Given the description of an element on the screen output the (x, y) to click on. 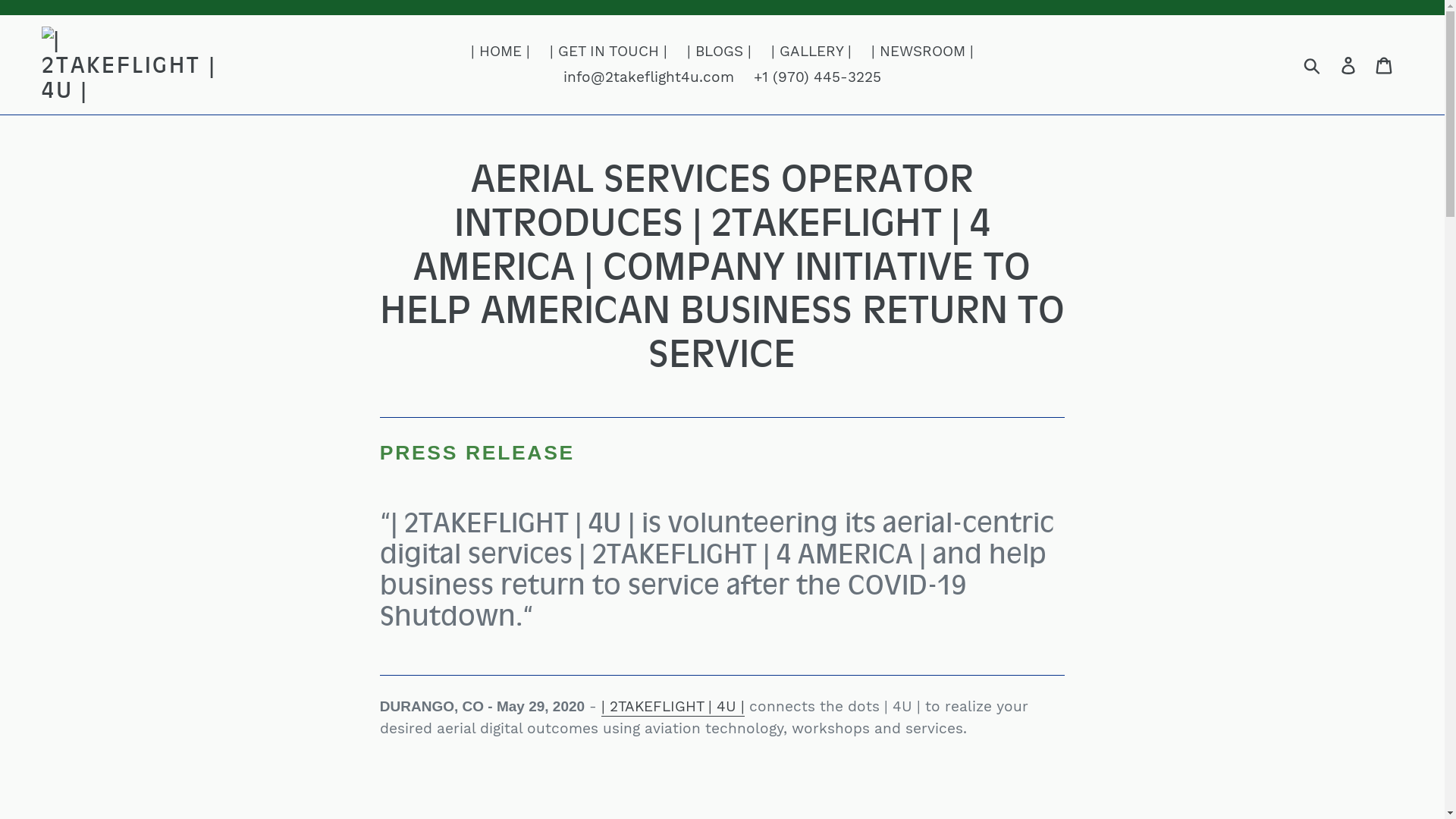
| 2TAKEFLIGHT | 4U | Element type: text (672, 706)
| GALLERY | Element type: text (811, 51)
Cart Element type: text (1384, 64)
info@2takeflight4u.com Element type: text (648, 77)
Log in Element type: text (1349, 64)
| BLOGS | Element type: text (719, 51)
Submit Element type: text (1312, 64)
| GET IN TOUCH | Element type: text (608, 51)
+1 (970) 445-3225 Element type: text (817, 77)
| HOME | Element type: text (500, 51)
| NEWSROOM | Element type: text (922, 51)
